Given the description of an element on the screen output the (x, y) to click on. 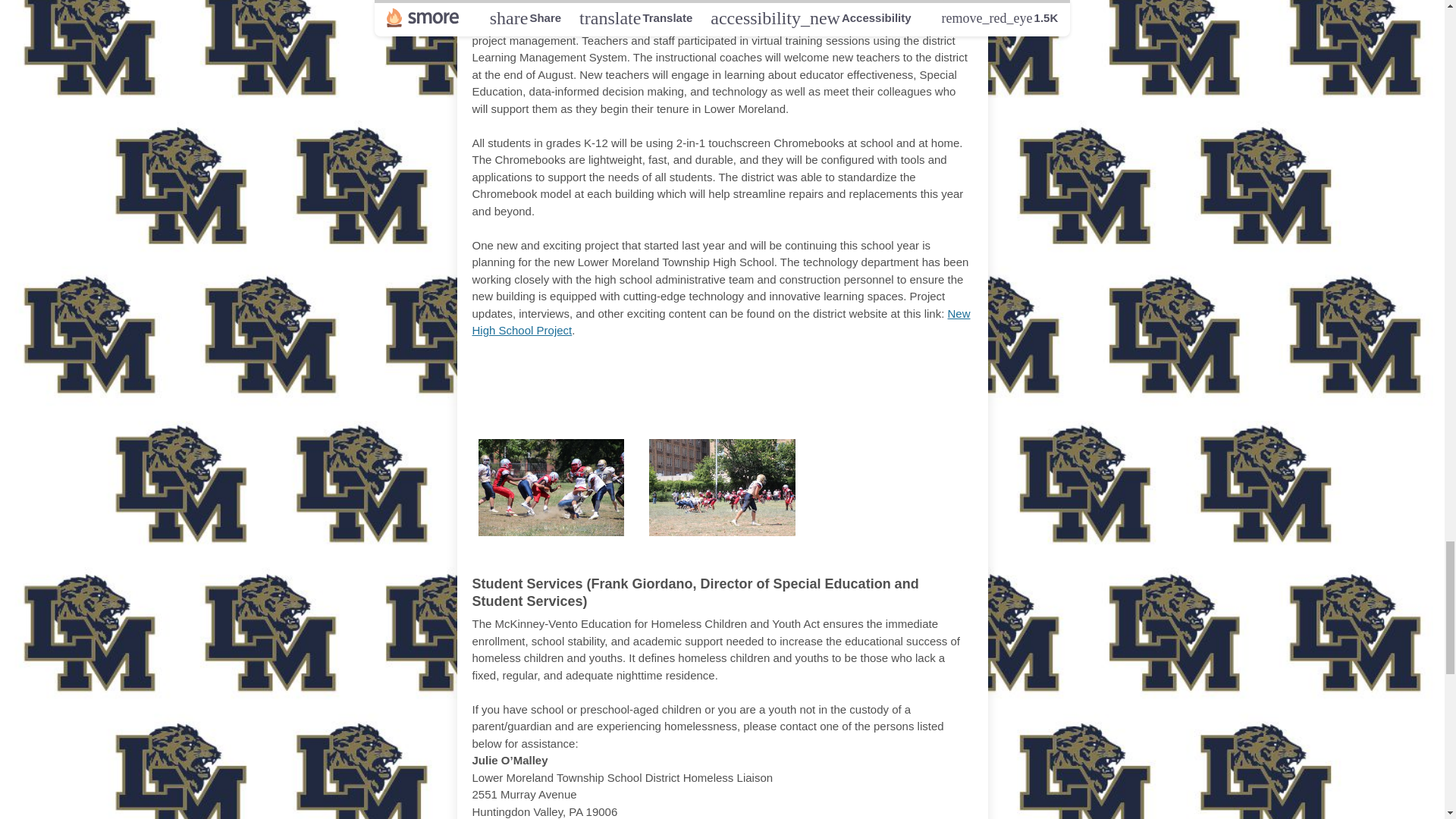
Dobbins (663, 396)
the (642, 372)
Scenes (537, 372)
New High School Project (720, 322)
against (905, 372)
Scrimmage (805, 372)
High (731, 396)
from (599, 372)
Football (703, 372)
